Given the description of an element on the screen output the (x, y) to click on. 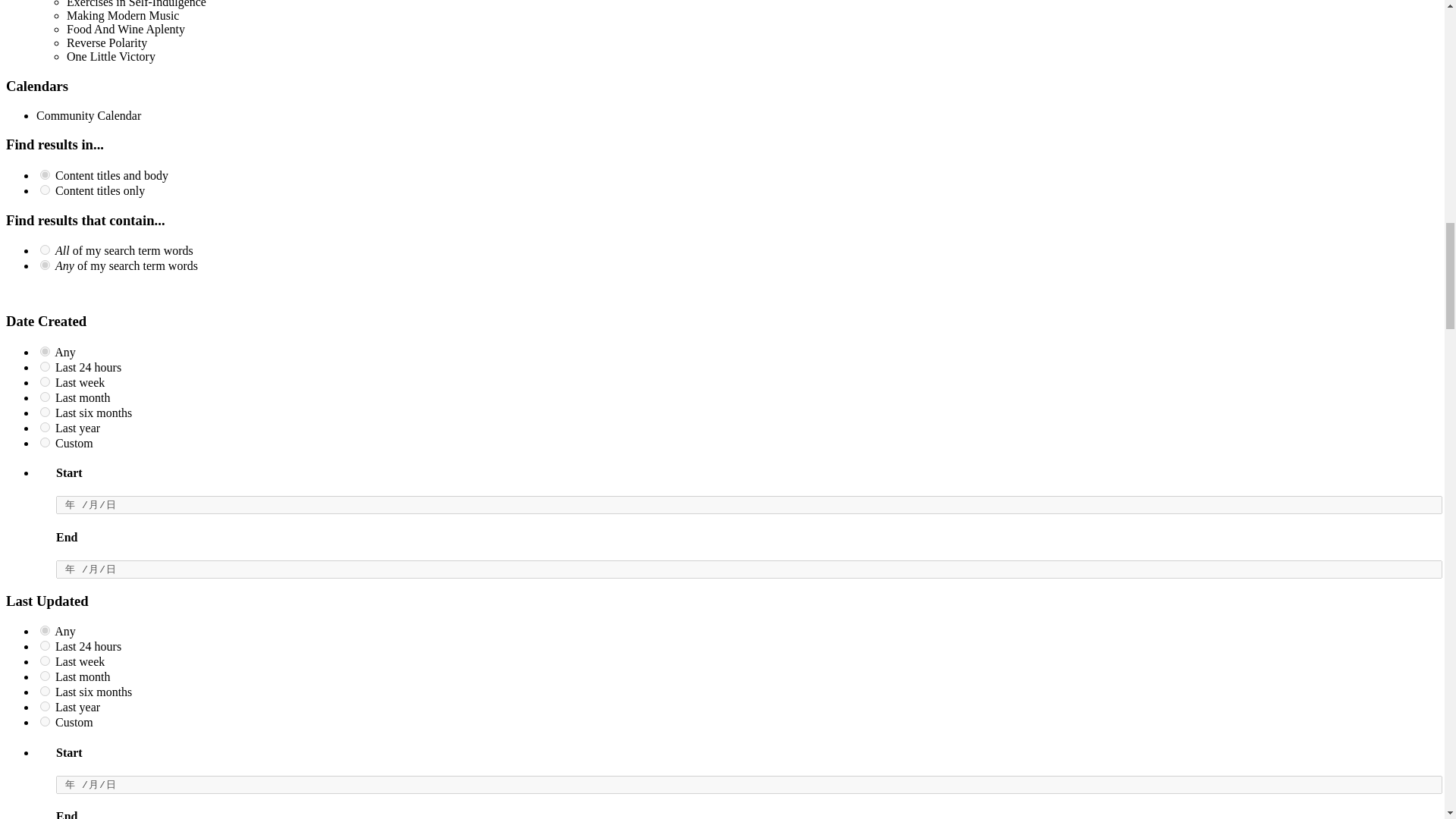
or (44, 265)
all (44, 174)
and (44, 249)
titles (44, 189)
